Given the description of an element on the screen output the (x, y) to click on. 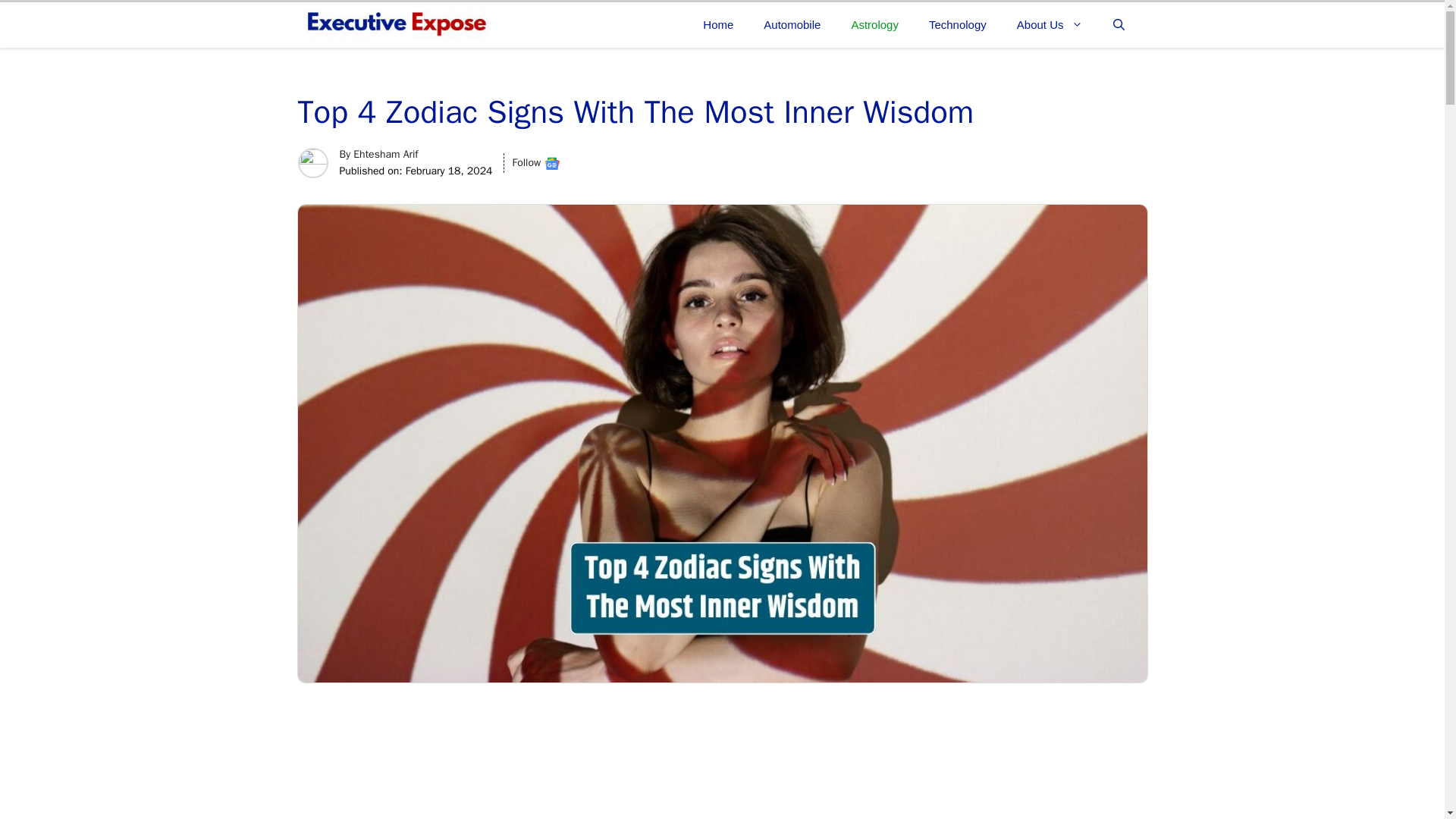
About Us (1049, 24)
Google News (551, 163)
Ehtesham Arif (385, 154)
Home (717, 24)
Astrology (874, 24)
Technology (957, 24)
Executive Expose (395, 24)
Automobile (791, 24)
